Given the description of an element on the screen output the (x, y) to click on. 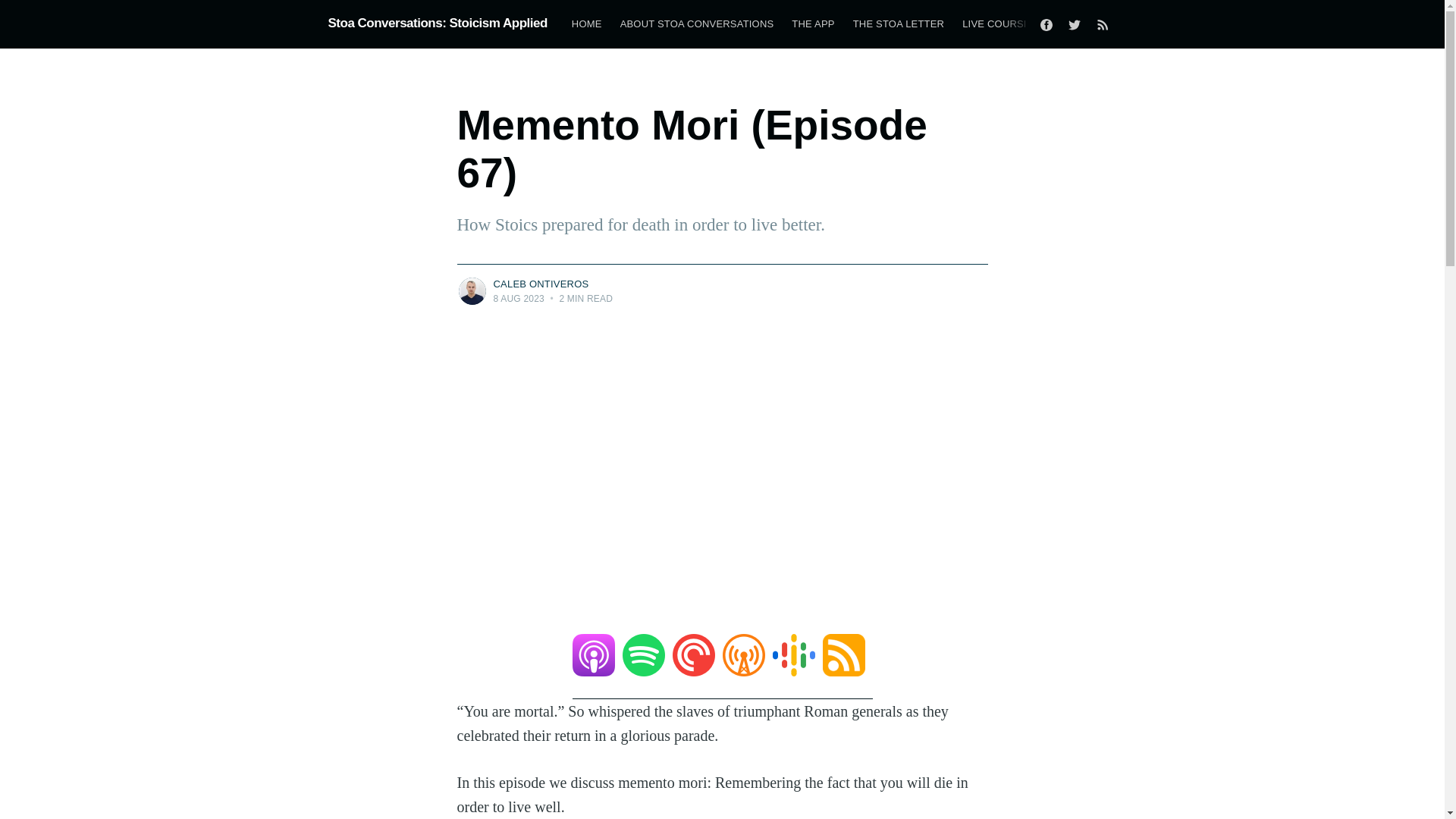
Stoa Conversations: Stoicism Applied (437, 23)
LIVE COURSES (999, 24)
HOME (586, 24)
THE STOA LETTER (898, 24)
THE APP (813, 24)
ABOUT STOA CONVERSATIONS (697, 24)
CALEB ONTIVEROS (540, 283)
